Given the description of an element on the screen output the (x, y) to click on. 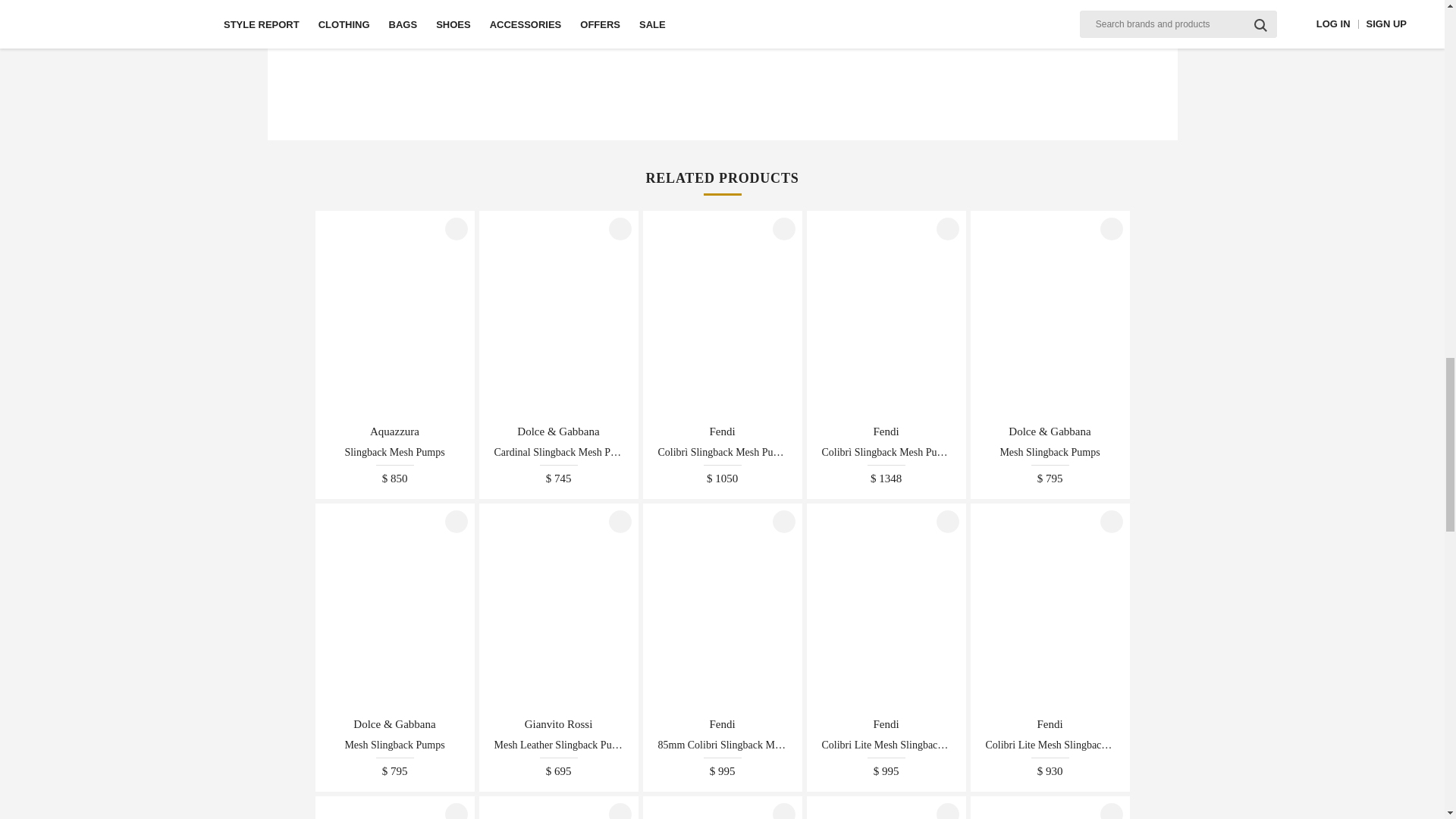
mesh slingback pumps (1050, 456)
Mesh Leather Slingback Pumps (559, 748)
Colibri Lite Mesh Slingback Pumps (1050, 748)
mesh slingback pumps (395, 748)
Cardinal slingback mesh pumps (559, 456)
slingback mesh pumps (395, 456)
Colibri Lite Mesh Slingback Pumps (886, 748)
85mm Colibri slingback mesh pumps (722, 748)
